Given the description of an element on the screen output the (x, y) to click on. 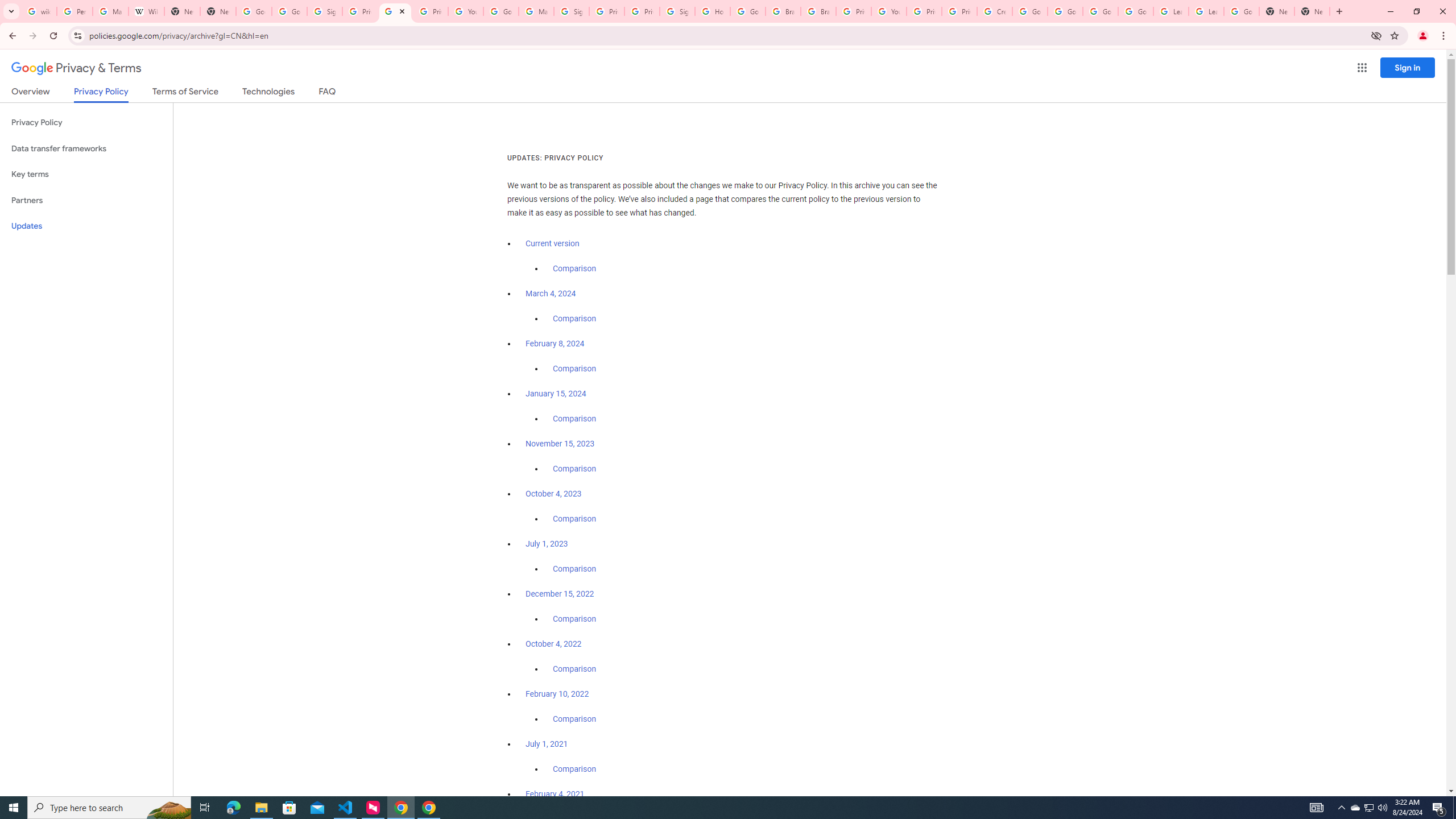
October 4, 2023 (553, 493)
New Tab (1312, 11)
Google Account (1240, 11)
